Given the description of an element on the screen output the (x, y) to click on. 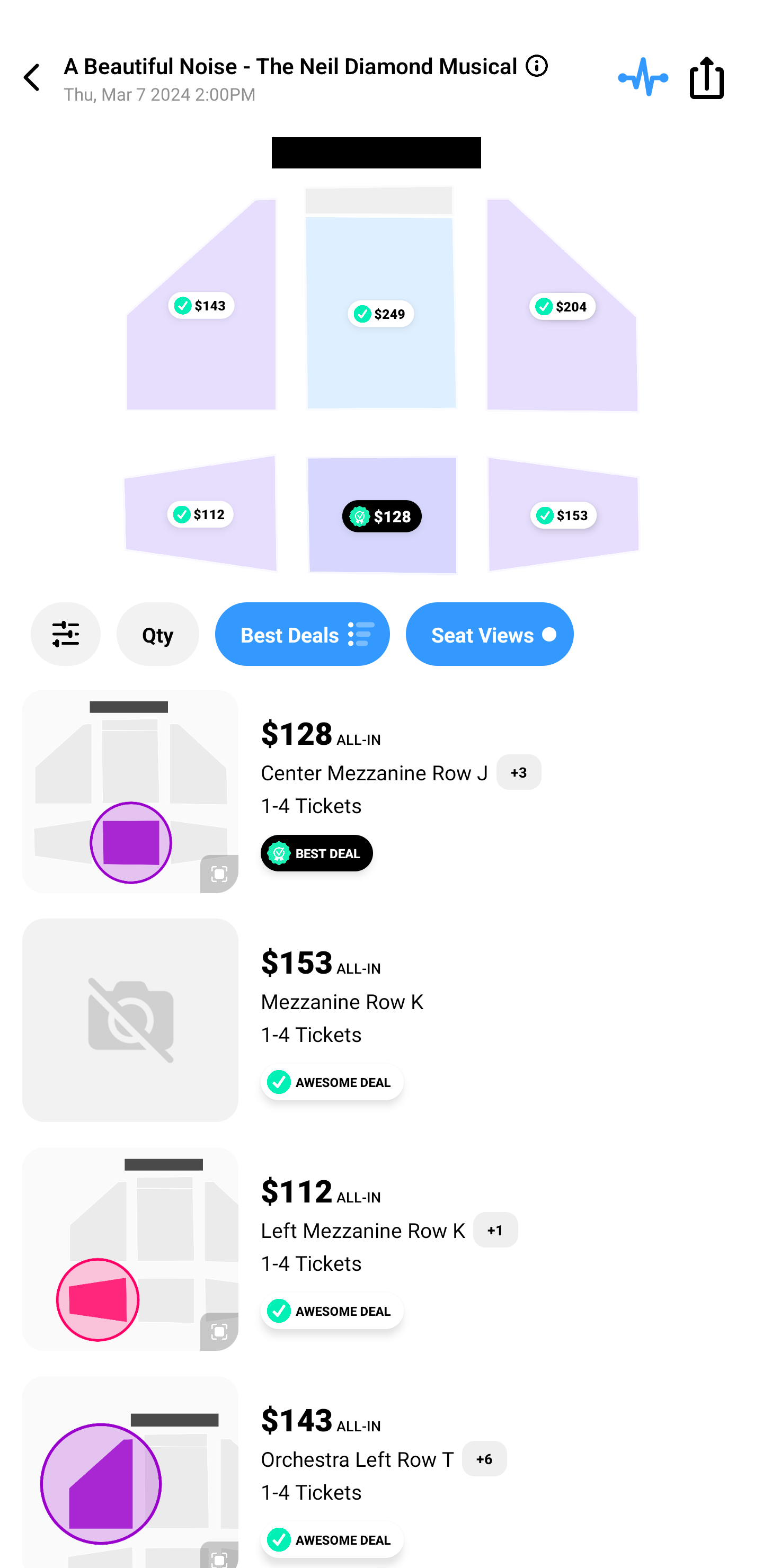
$249 (380, 313)
Qty (157, 634)
Best Deals (302, 634)
Seat Views (489, 634)
+3 (518, 772)
BEST DEAL (316, 852)
AWESOME DEAL (331, 1081)
+1 (495, 1230)
AWESOME DEAL (331, 1310)
+6 (484, 1458)
AWESOME DEAL (331, 1539)
